Given the description of an element on the screen output the (x, y) to click on. 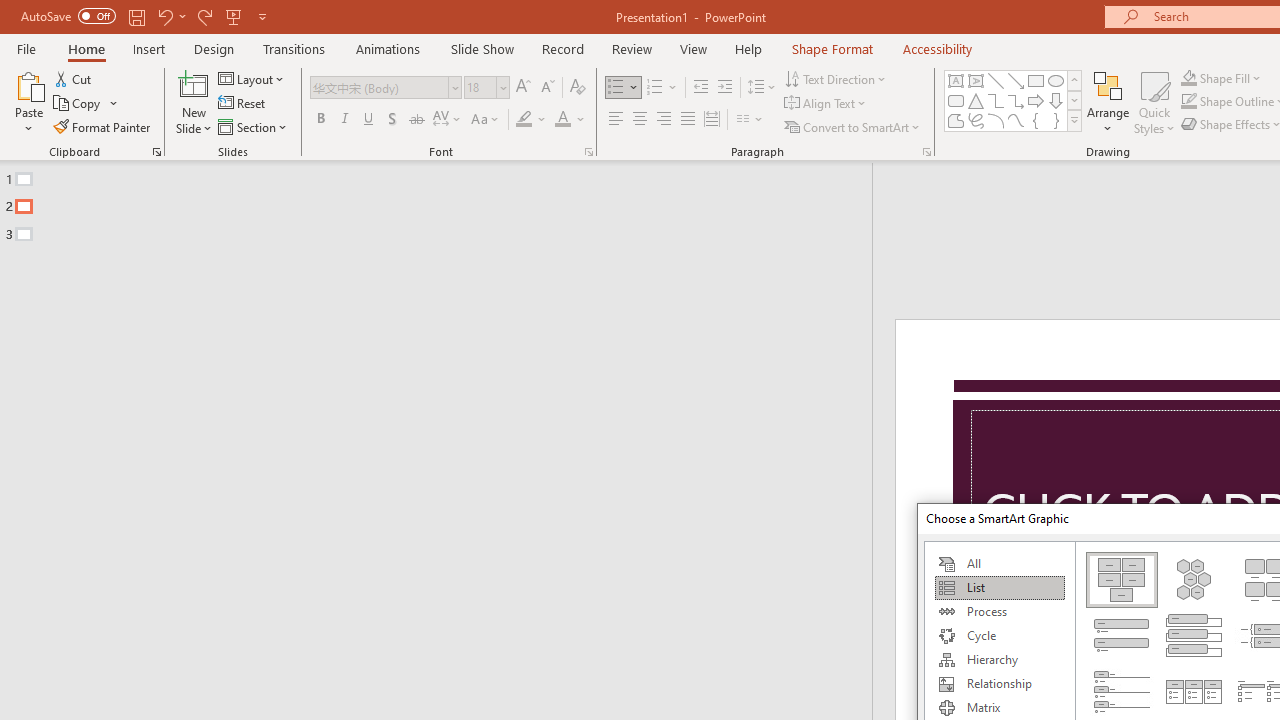
Format Painter (103, 126)
Vertical Text Box (975, 80)
Accessibility (937, 48)
Home (86, 48)
Customize Quick Access Toolbar (262, 15)
New Slide (193, 102)
Bullets (616, 87)
Line Arrow (1016, 80)
Text Highlight Color Yellow (524, 119)
Numbering (661, 87)
Copy (85, 103)
Row up (1074, 79)
Hierarchy (999, 659)
Quick Access Toolbar (145, 16)
Font Color Red (562, 119)
